Given the description of an element on the screen output the (x, y) to click on. 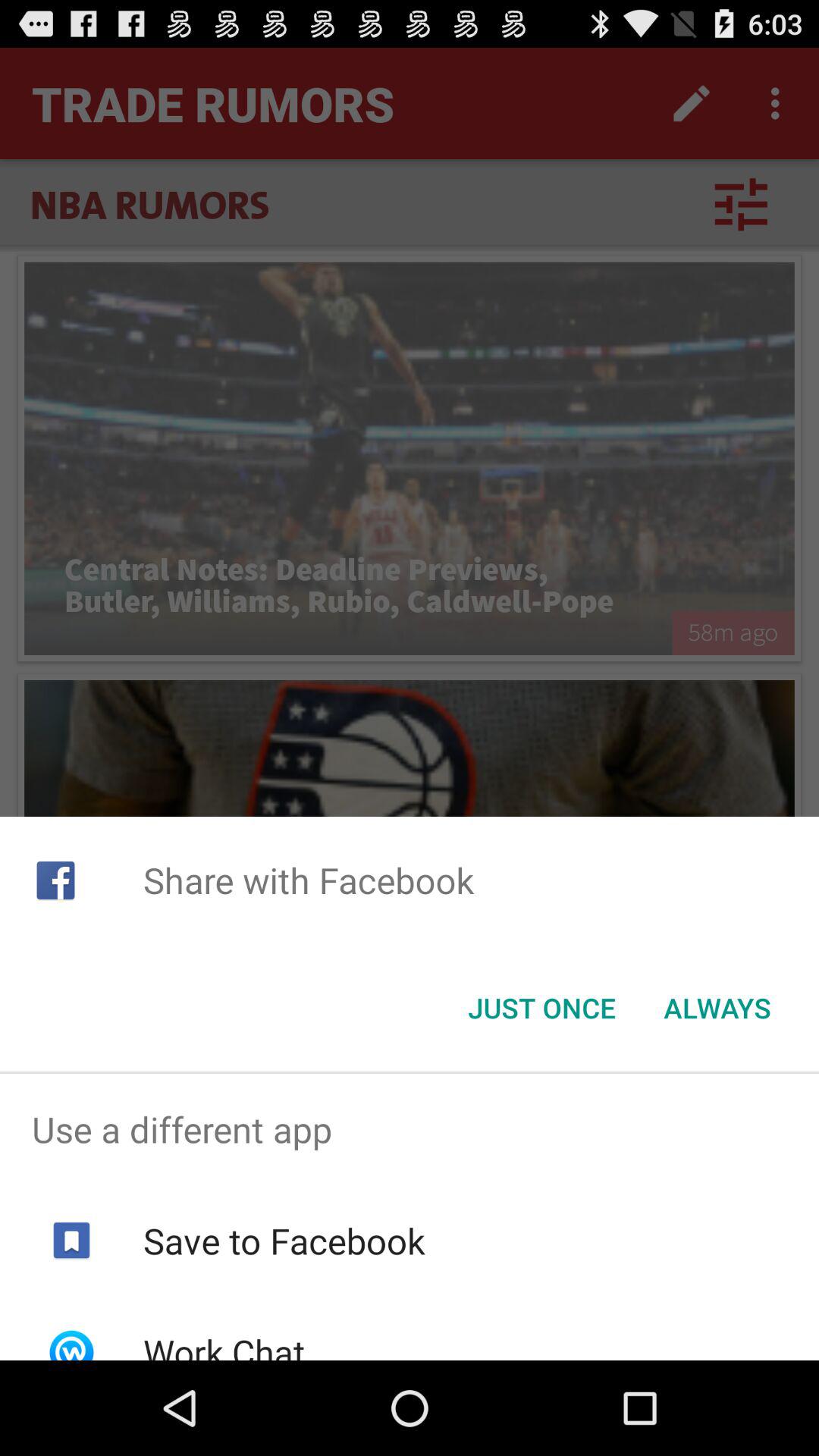
launch use a different (409, 1129)
